Given the description of an element on the screen output the (x, y) to click on. 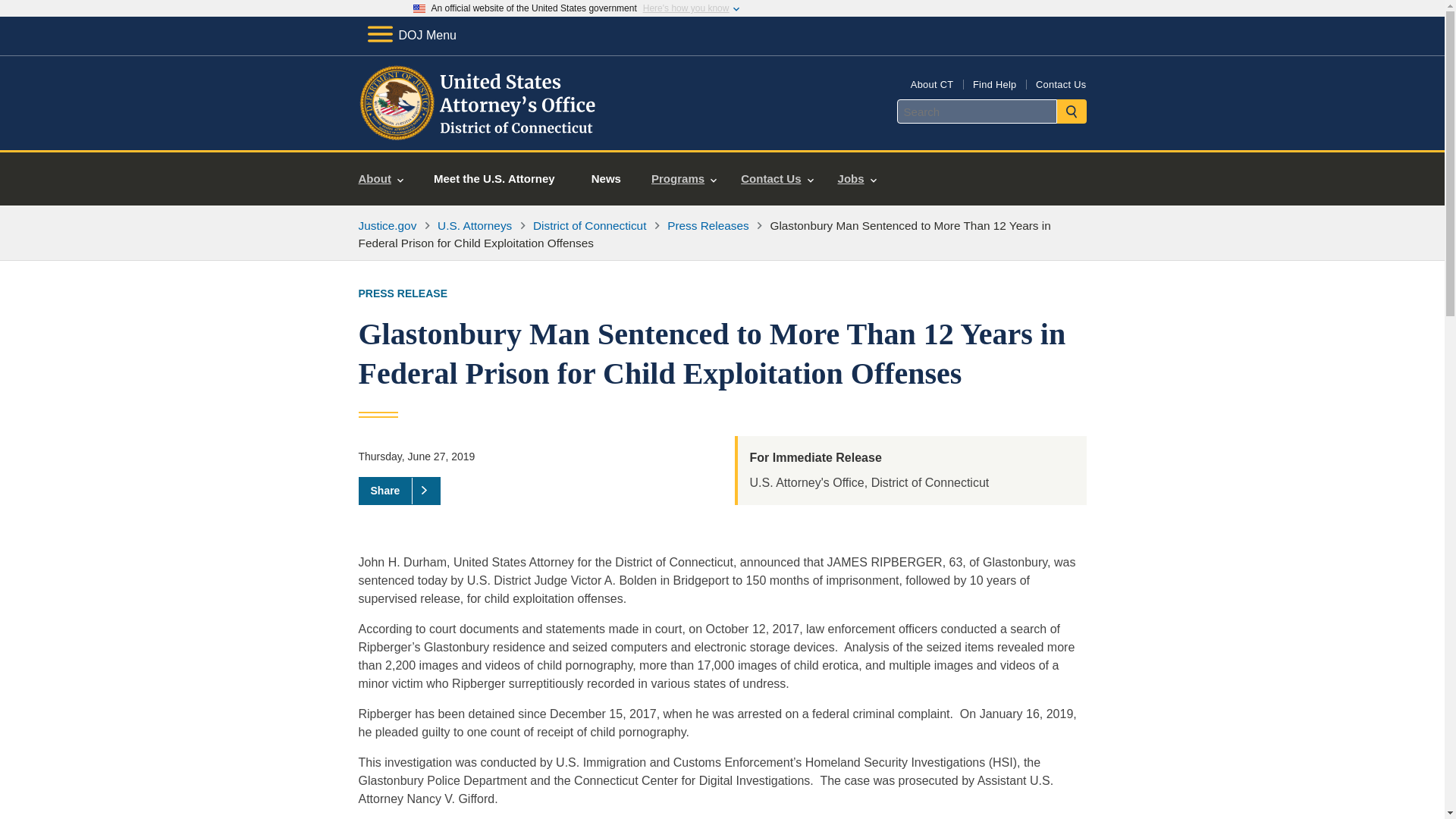
Find Help (994, 84)
Contact Us (777, 179)
News (606, 179)
DOJ Menu (411, 35)
District of Connecticut (589, 225)
About CT (932, 84)
Press Releases (707, 225)
Justice.gov (387, 225)
Jobs (856, 179)
About (380, 179)
